Given the description of an element on the screen output the (x, y) to click on. 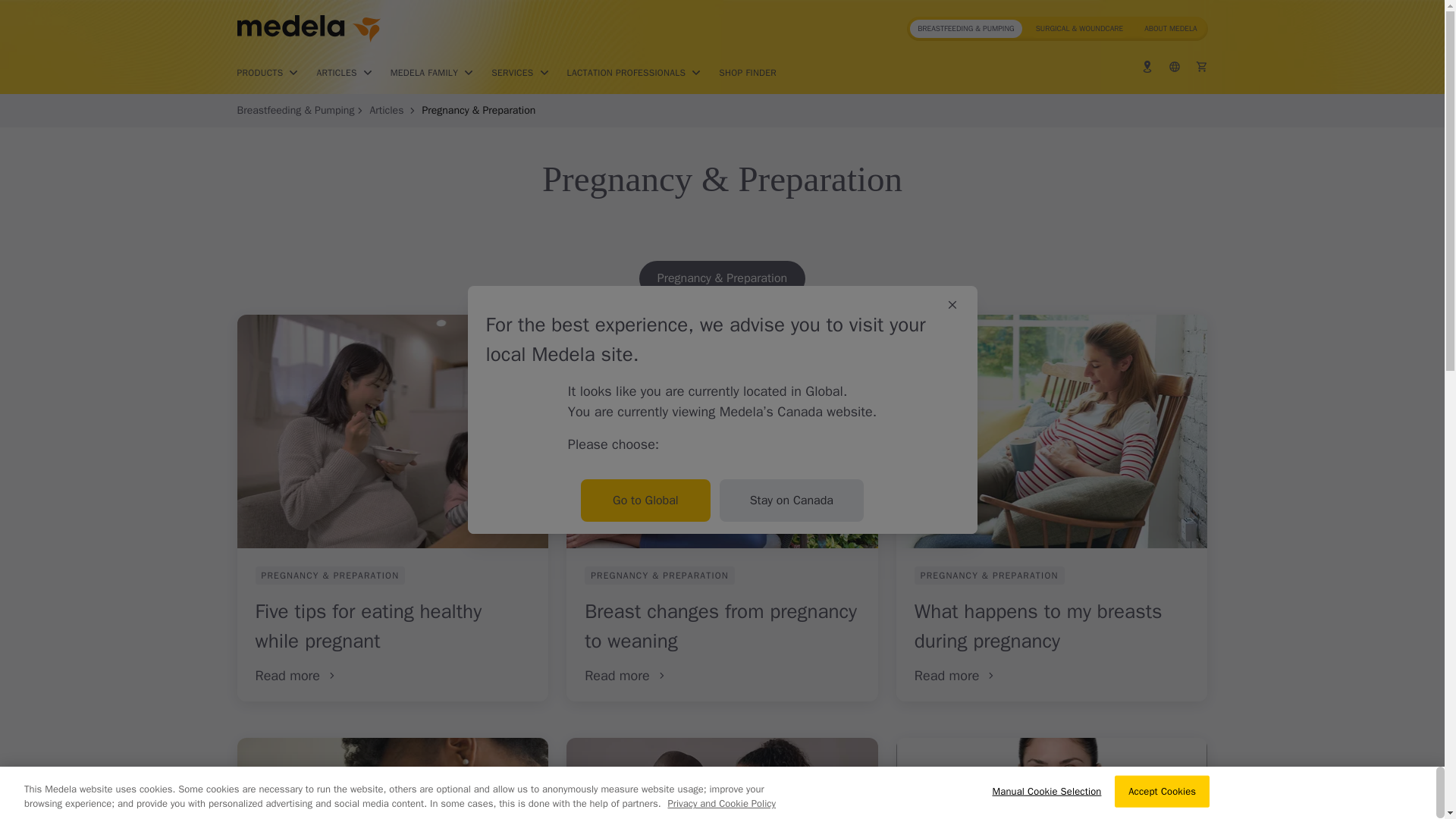
ARTICLES (344, 72)
SHOP FINDER (747, 72)
LACTATION PROFESSIONALS (635, 72)
SERVICES (521, 72)
ABOUT MEDELA (1170, 28)
MEDELA FAMILY (433, 72)
PRODUCTS (268, 72)
